Given the description of an element on the screen output the (x, y) to click on. 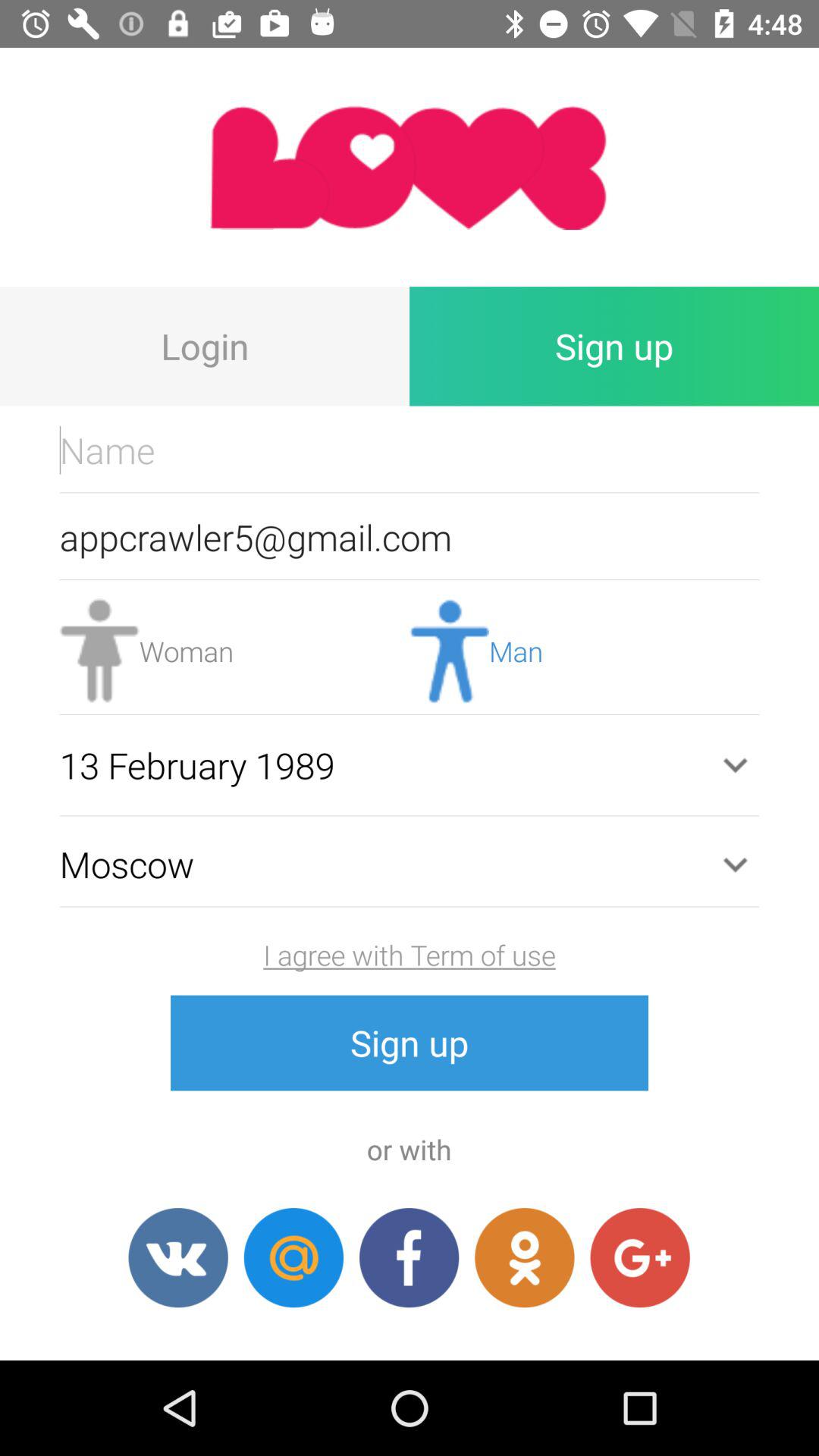
sign in option (524, 1257)
